Given the description of an element on the screen output the (x, y) to click on. 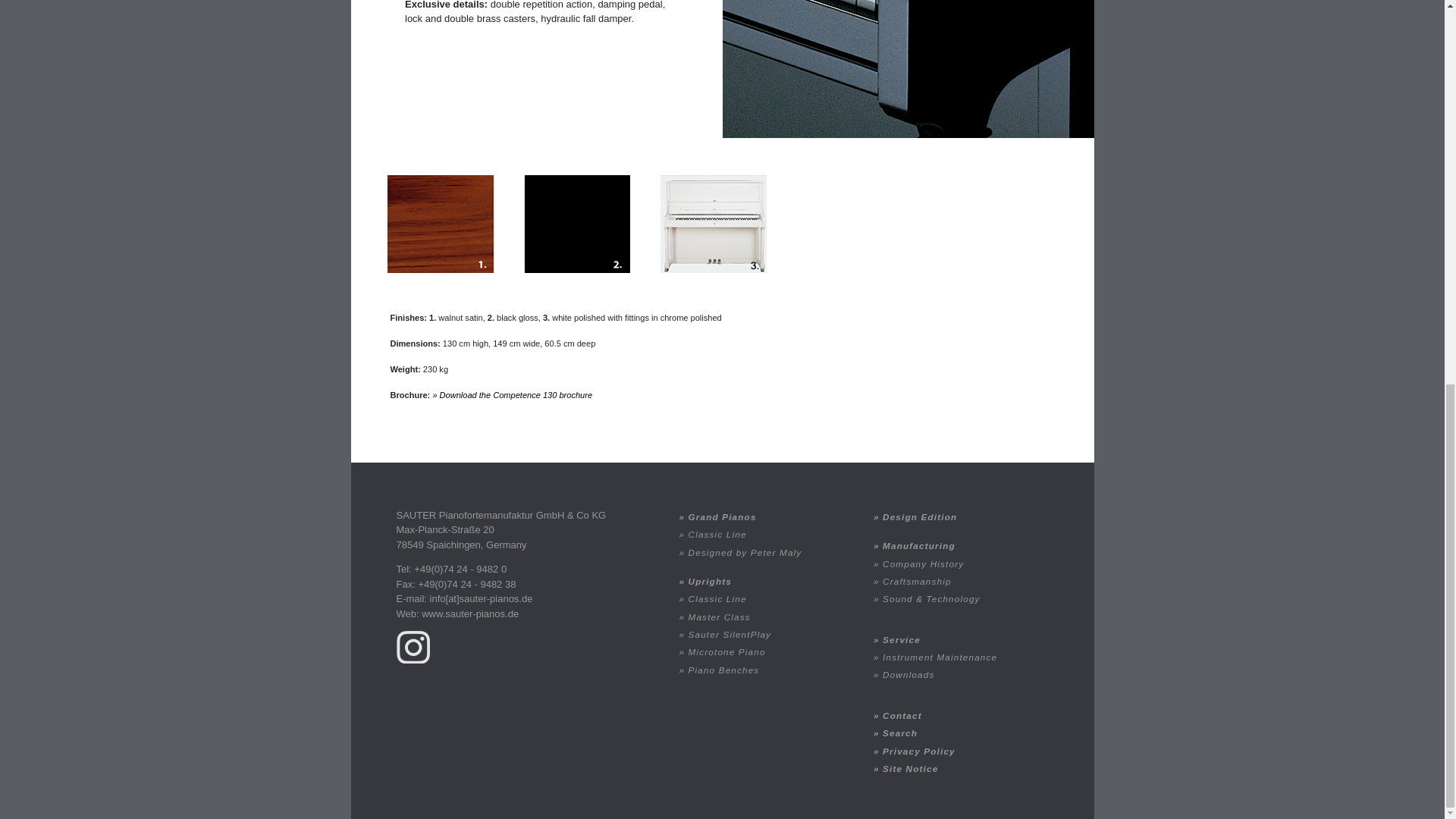
Designed by Peter Maly (763, 551)
Classic Line (763, 533)
Download the Competence 130 brochure (512, 394)
Uprights (763, 580)
Classic Line (763, 598)
www.sauter-pianos.de (470, 613)
Grand Pianos (763, 516)
Sauter on Instagram (412, 645)
